Given the description of an element on the screen output the (x, y) to click on. 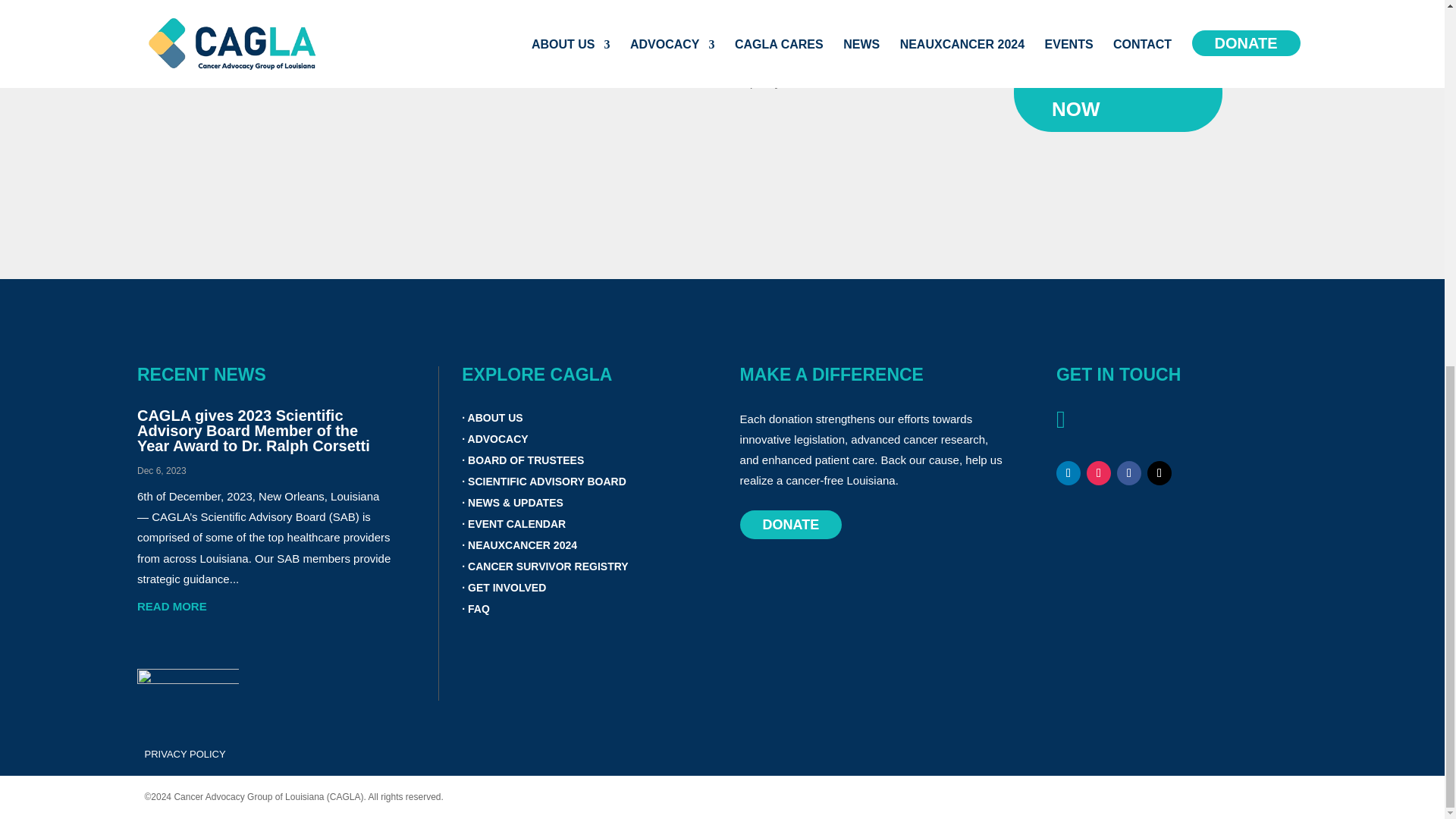
cagla-logo-reversed (187, 685)
Follow on X (1159, 473)
Follow on Instagram (1098, 473)
DONATE NOW (1118, 92)
Follow on LinkedIn (1068, 473)
Follow on Facebook (1128, 473)
